Given the description of an element on the screen output the (x, y) to click on. 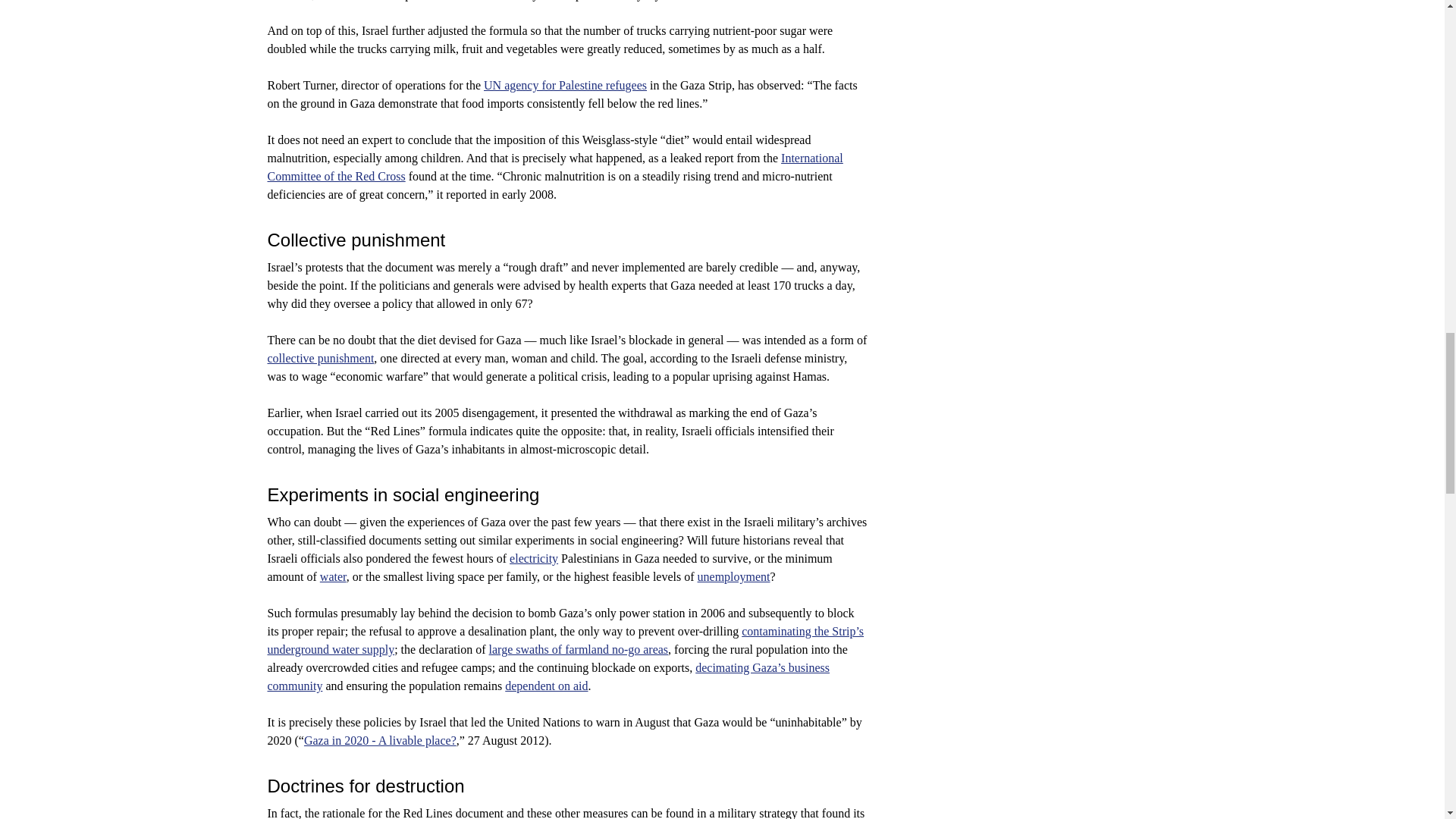
dependent on aid (546, 685)
collective punishment (320, 358)
electricity (533, 558)
water (333, 576)
Gaza in 2020 - A livable place? (380, 739)
unemployment (733, 576)
large swaths of farmland no-go areas (578, 649)
UN agency for Palestine refugees (564, 84)
International Committee of the Red Cross (554, 166)
